Given the description of an element on the screen output the (x, y) to click on. 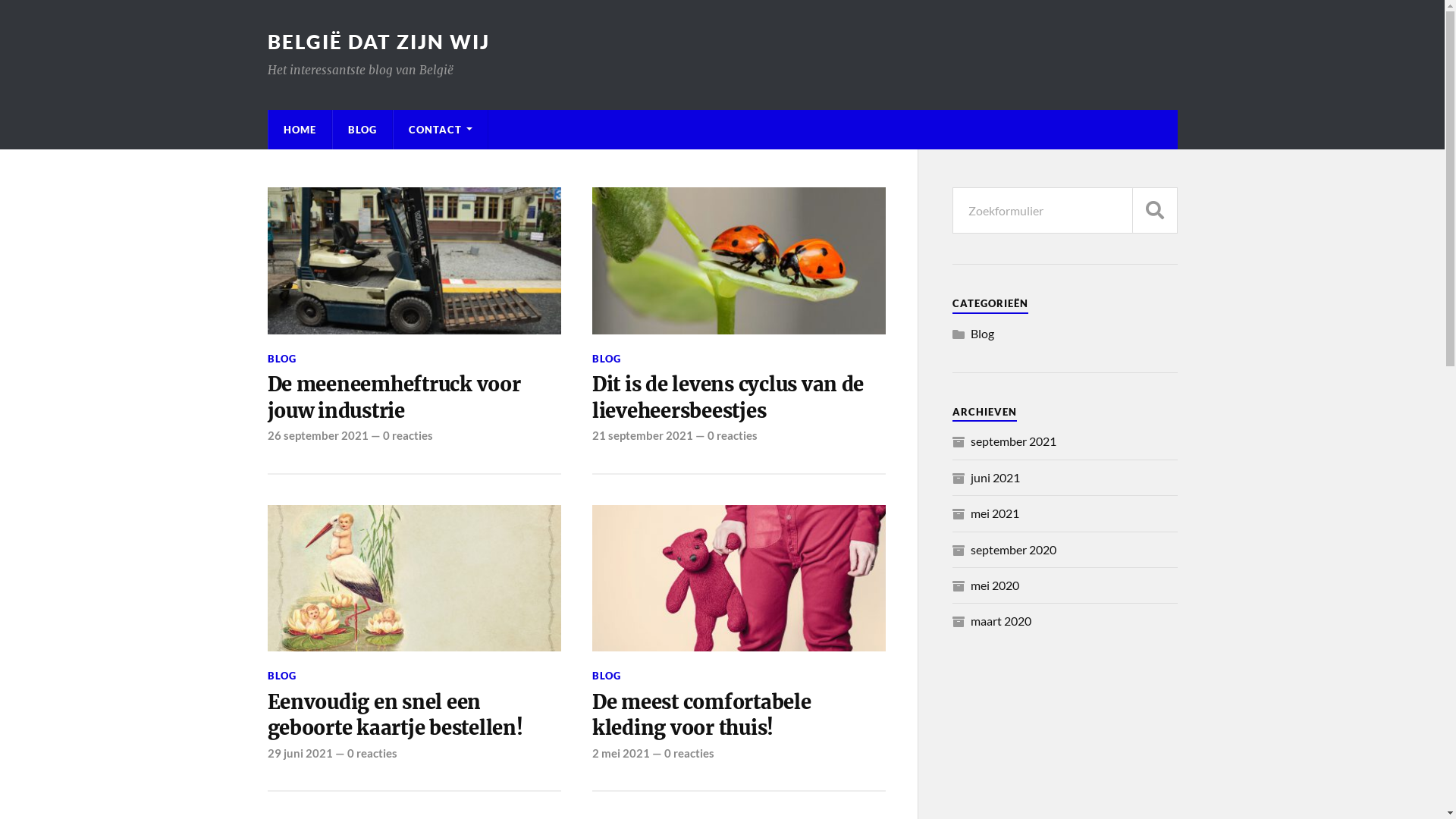
CONTACT Element type: text (439, 129)
0 reacties Element type: text (407, 435)
mei 2020 Element type: text (994, 584)
29 juni 2021 Element type: text (299, 752)
BLOG Element type: text (361, 129)
mei 2021 Element type: text (994, 512)
2 mei 2021 Element type: text (620, 752)
De meeneemheftruck voor jouw industrie Element type: text (413, 397)
26 september 2021 Element type: text (316, 435)
Dit is de levens cyclus van de lieveheersbeestjes Element type: text (739, 397)
september 2020 Element type: text (1013, 549)
BLOG Element type: text (606, 358)
september 2021 Element type: text (1013, 440)
0 reacties Element type: text (689, 752)
HOME Element type: text (299, 129)
BLOG Element type: text (606, 675)
0 reacties Element type: text (732, 435)
De meest comfortabele kleding voor thuis! Element type: text (739, 715)
BLOG Element type: text (280, 675)
Eenvoudig en snel een geboorte kaartje bestellen! Element type: text (413, 715)
maart 2020 Element type: text (1000, 620)
Blog Element type: text (982, 333)
21 september 2021 Element type: text (642, 435)
0 reacties Element type: text (372, 752)
juni 2021 Element type: text (994, 477)
BLOG Element type: text (280, 358)
